Given the description of an element on the screen output the (x, y) to click on. 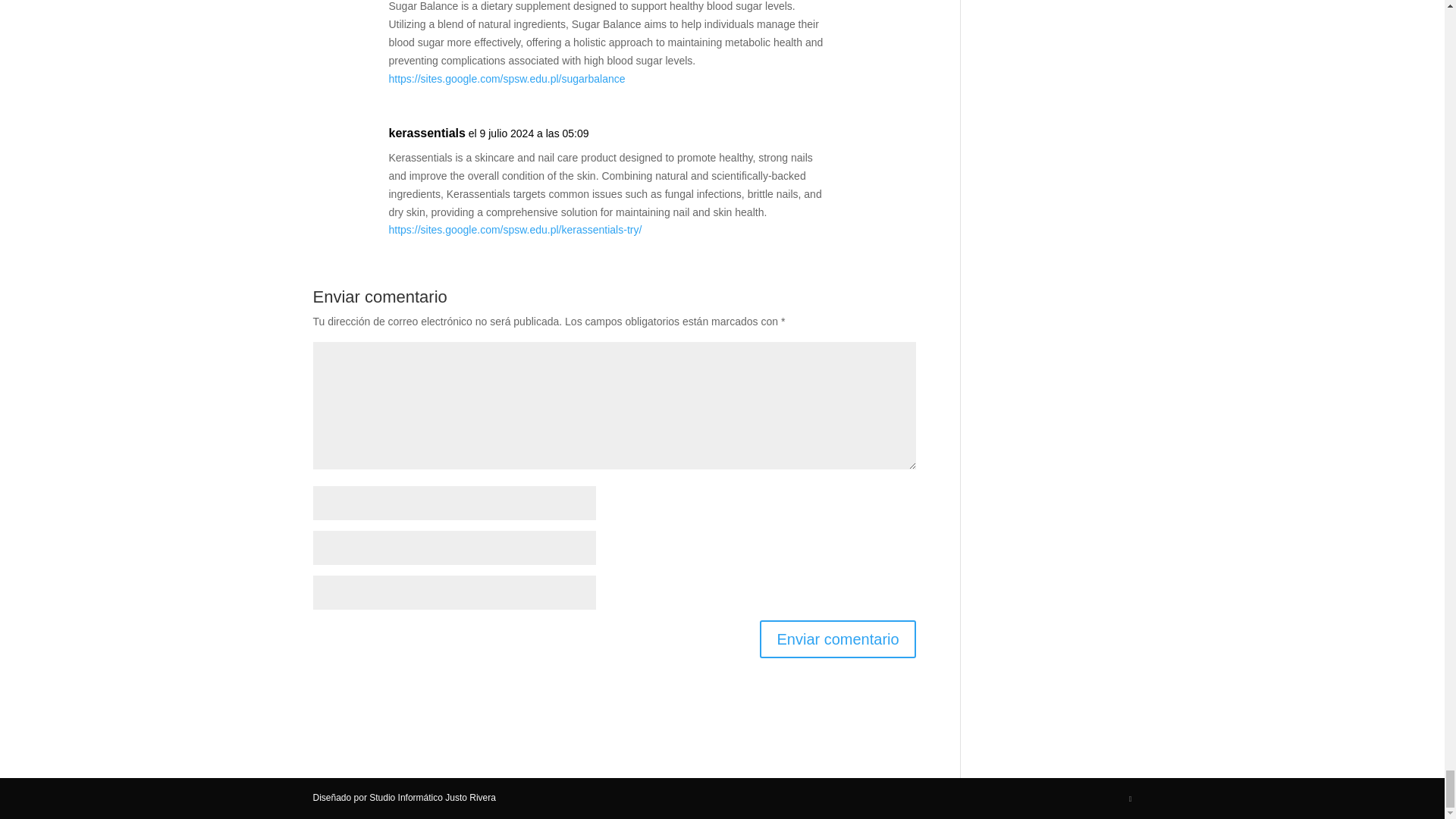
Enviar comentario (837, 638)
